Given the description of an element on the screen output the (x, y) to click on. 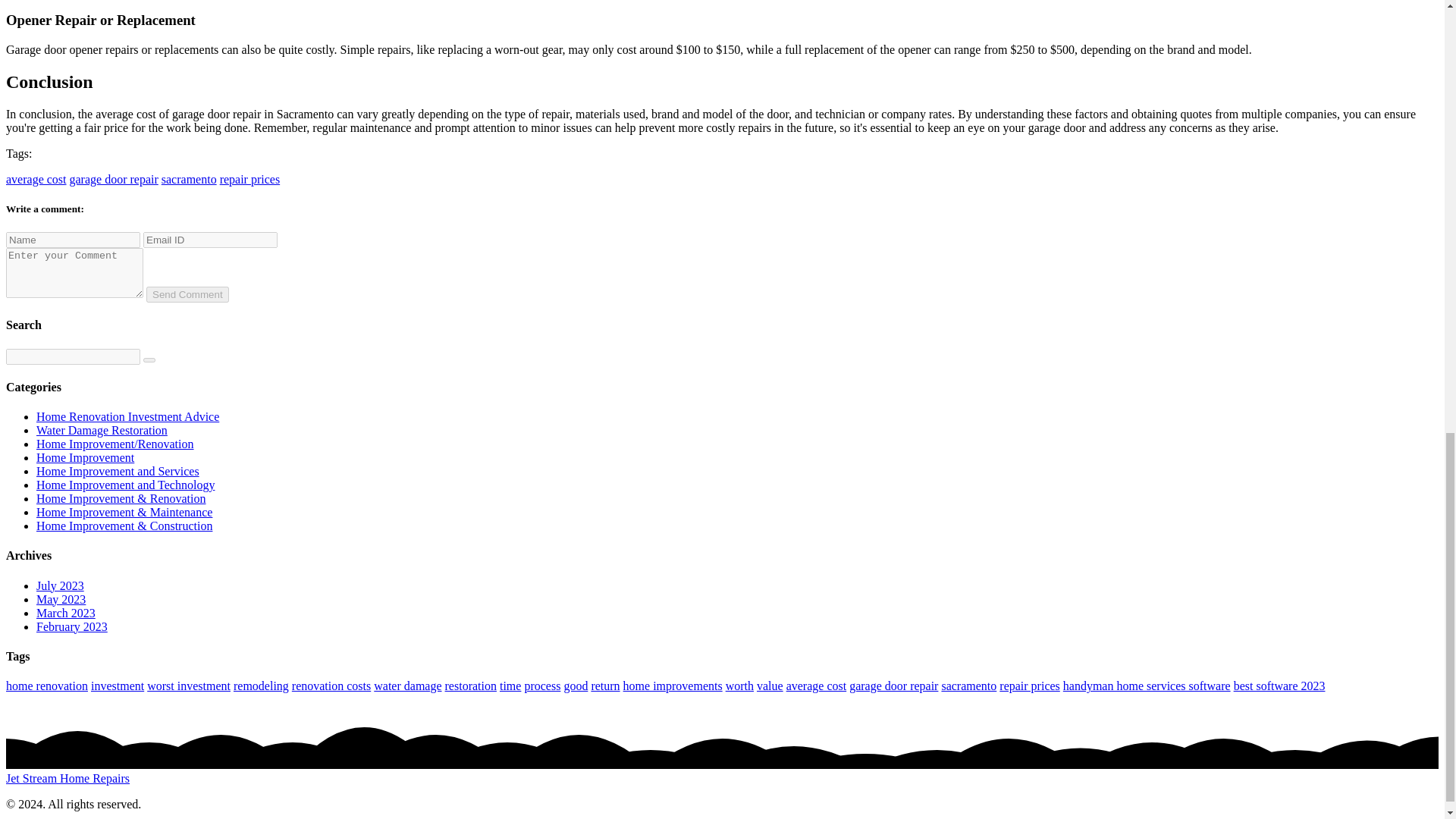
home improvements (672, 685)
sacramento (967, 685)
worth (739, 685)
February 2023 (71, 626)
garage door repair (892, 685)
return (605, 685)
remodeling (260, 685)
repair prices (250, 178)
renovation costs (331, 685)
Home Improvement and Technology (125, 484)
